Given the description of an element on the screen output the (x, y) to click on. 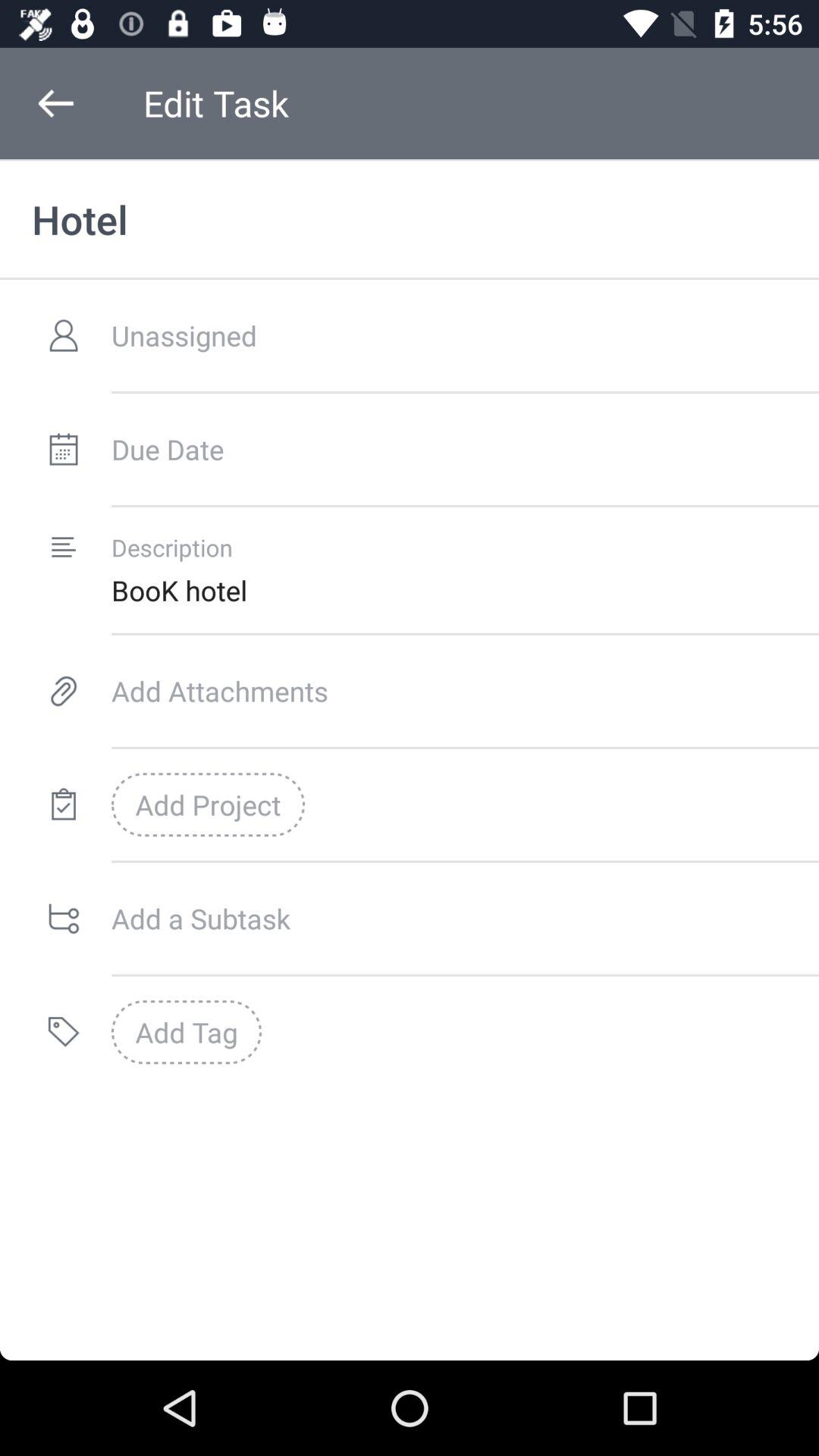
add attachments (465, 690)
